Given the description of an element on the screen output the (x, y) to click on. 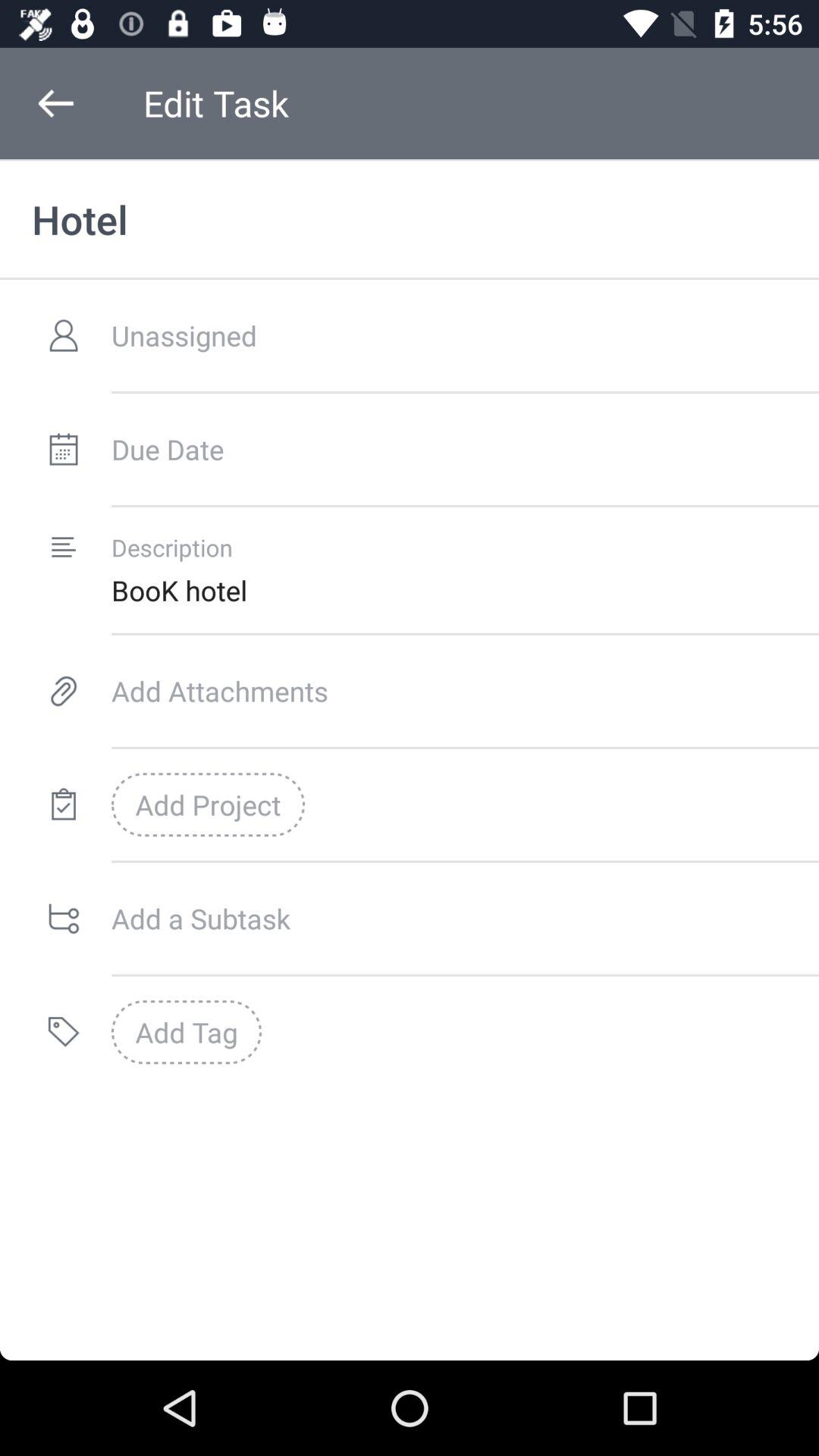
add attachments (465, 690)
